Given the description of an element on the screen output the (x, y) to click on. 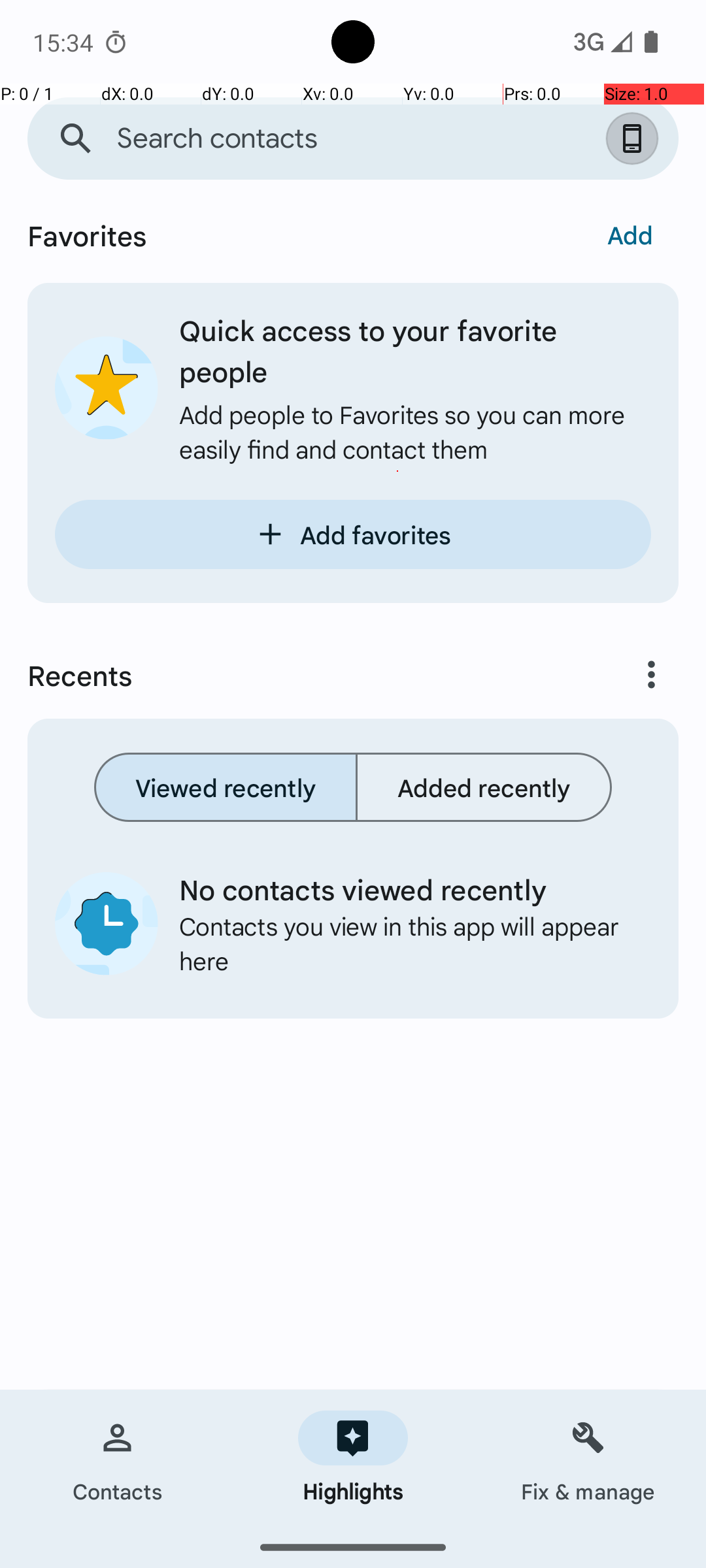
Quick access to your favorite people Element type: android.widget.TextView (415, 350)
Add people to Favorites so you can more easily find and contact them Element type: android.widget.TextView (415, 431)
Add favorites Element type: android.widget.Button (352, 534)
No contacts viewed recently Element type: android.widget.TextView (404, 888)
Contacts you view in this app will appear here Element type: android.widget.TextView (404, 942)
Viewed recently Element type: android.widget.CompoundButton (225, 787)
Added recently Element type: android.widget.CompoundButton (483, 787)
